Given the description of an element on the screen output the (x, y) to click on. 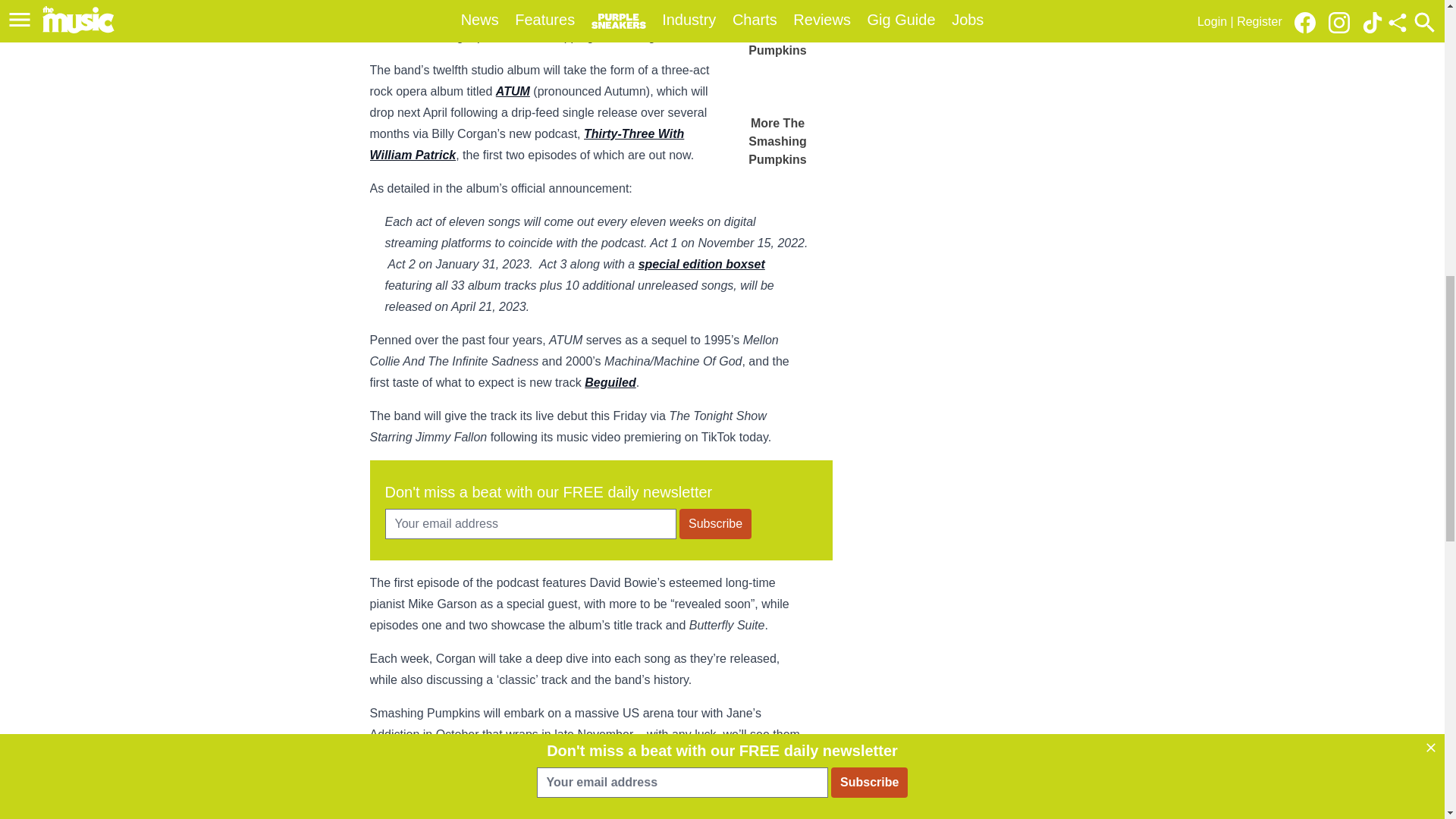
Beguiled (610, 382)
Thirty-Three With William Patrick (526, 144)
Spotify Embed: Beguiled (588, 798)
Subscribe (715, 523)
ATUM (512, 91)
special edition boxset (702, 264)
